Given the description of an element on the screen output the (x, y) to click on. 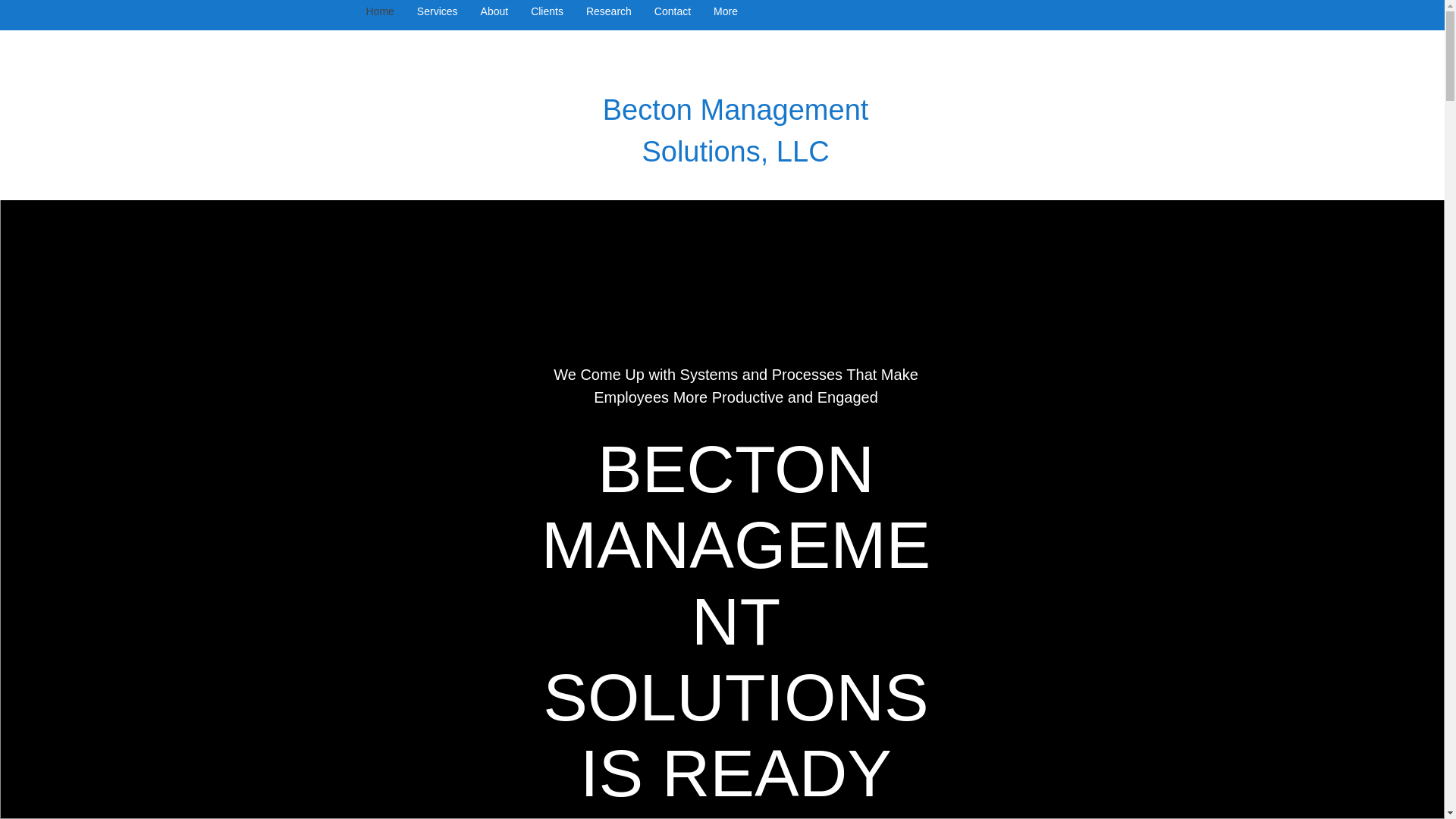
Clients (547, 15)
Contact (672, 15)
Research (609, 15)
Home (380, 15)
Services (437, 15)
About (493, 15)
